Given the description of an element on the screen output the (x, y) to click on. 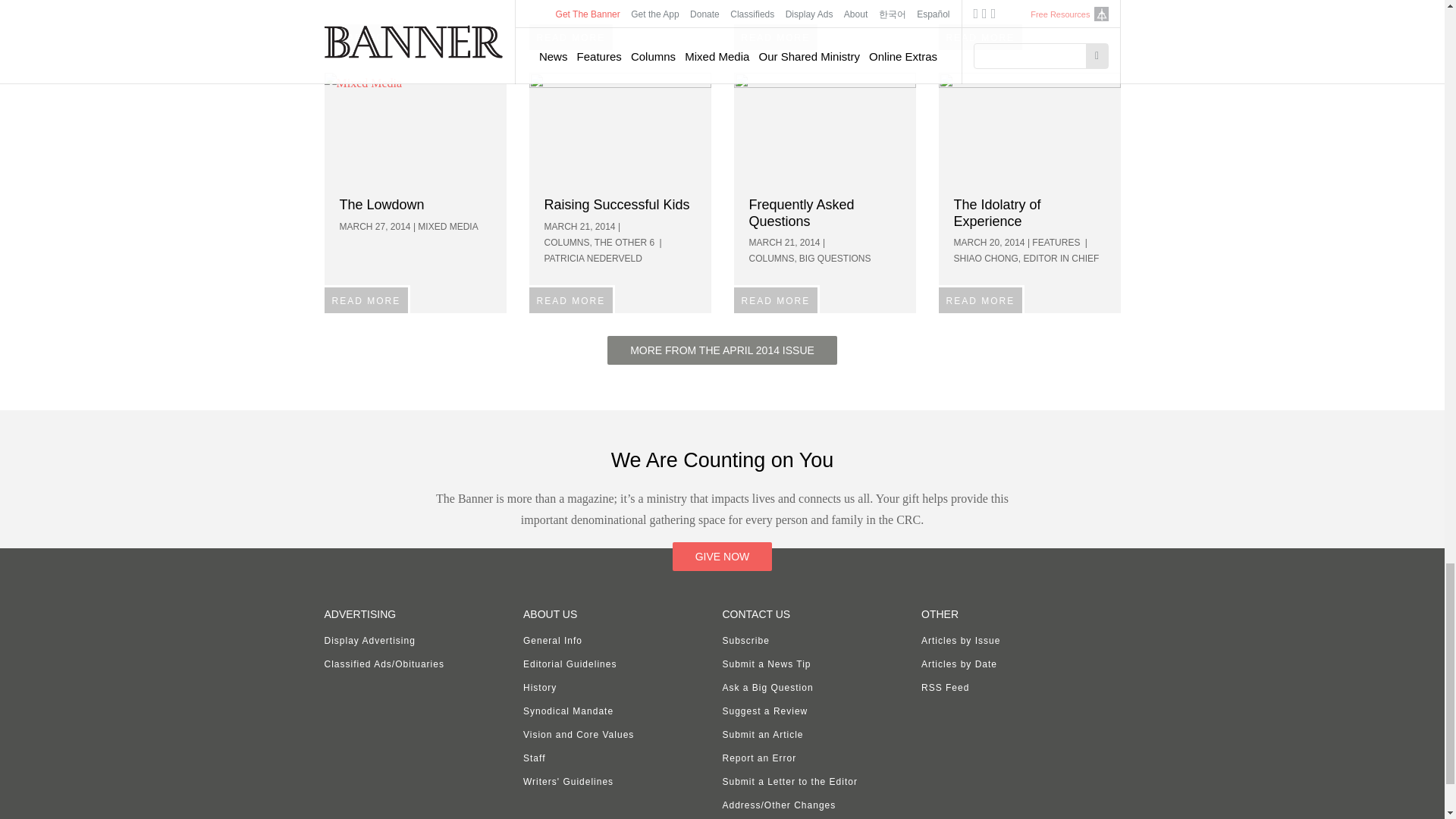
Mixed Media (415, 128)
